Given the description of an element on the screen output the (x, y) to click on. 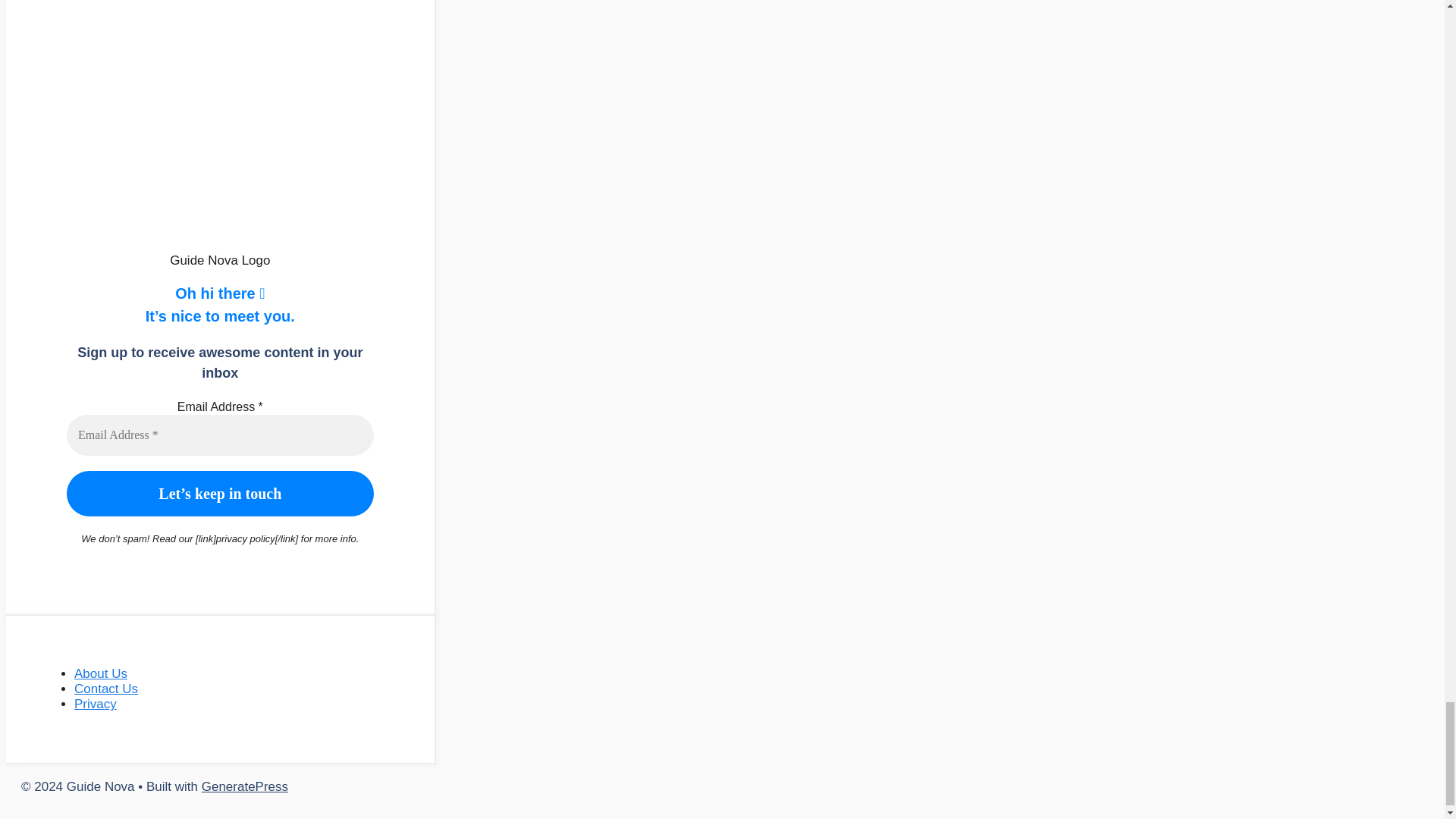
Email Address (220, 434)
